Given the description of an element on the screen output the (x, y) to click on. 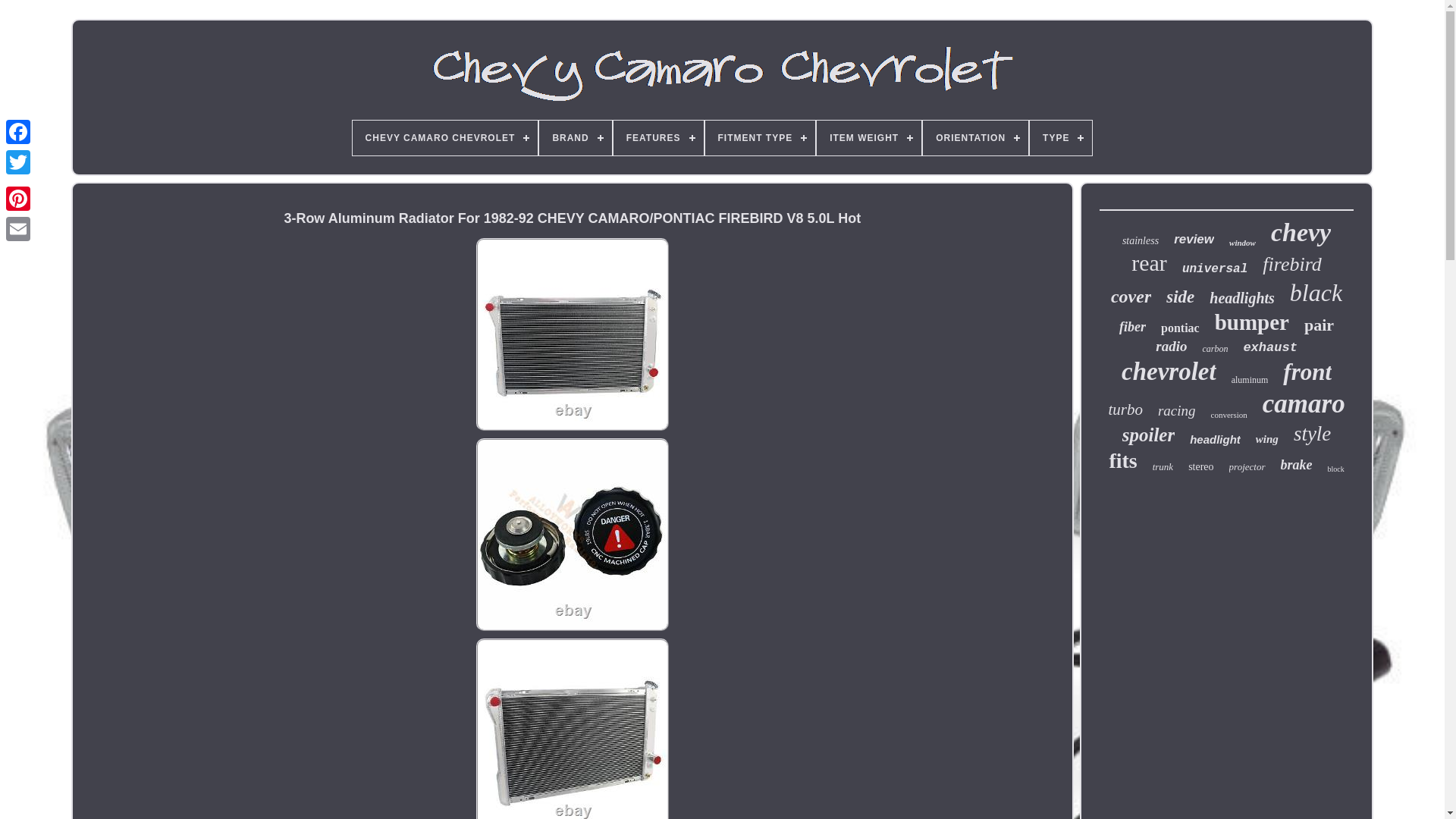
FEATURES (657, 137)
BRAND (574, 137)
Email (17, 228)
CHEVY CAMARO CHEVROLET (445, 137)
